Given the description of an element on the screen output the (x, y) to click on. 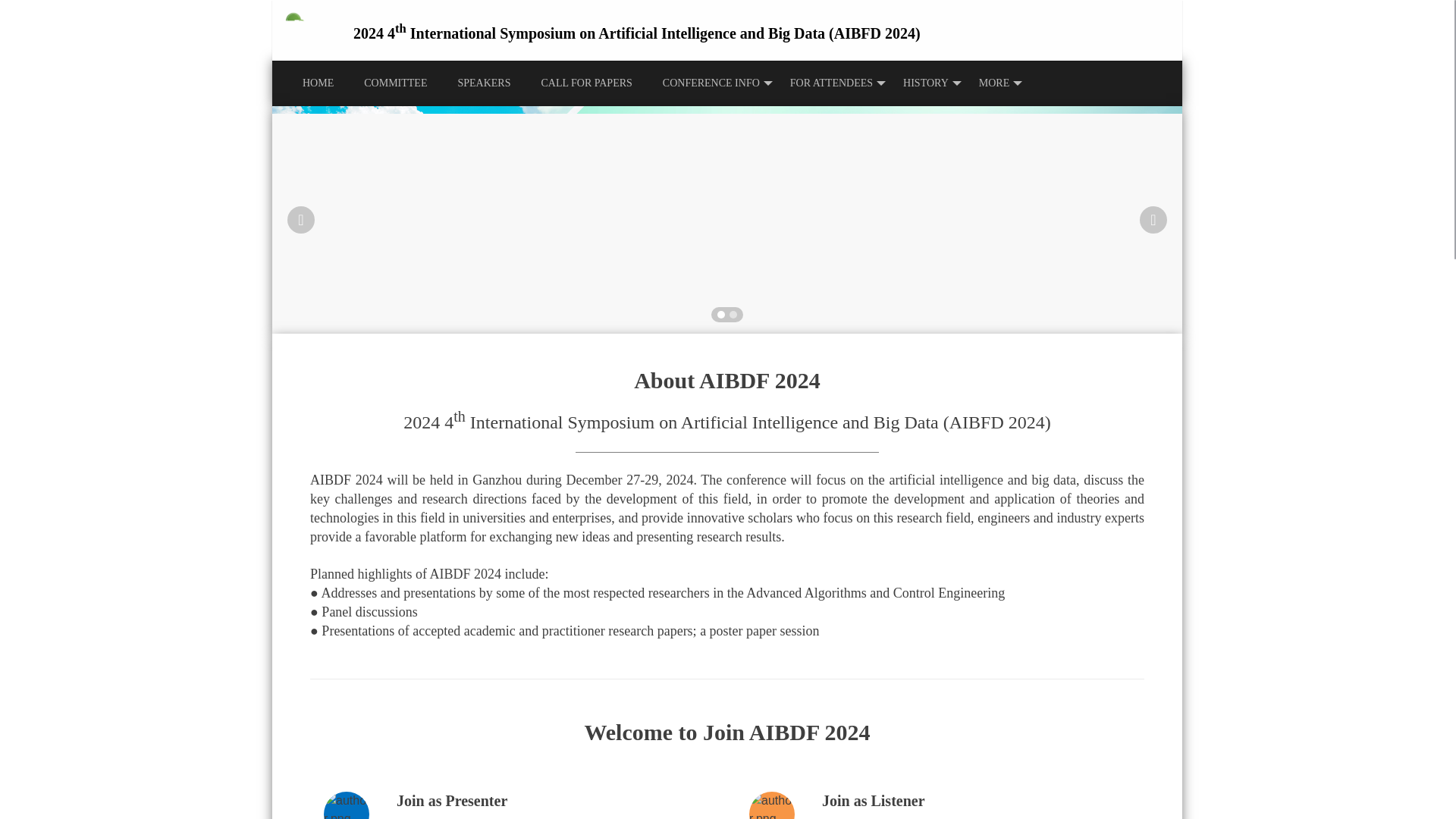
SPEAKERS (483, 83)
CONFERENCE INFO (710, 83)
COMMITTEE (395, 83)
HOME (317, 83)
HISTORY (925, 83)
MORE (994, 83)
CALL FOR PAPERS (585, 83)
FOR ATTENDEES (831, 83)
